Given the description of an element on the screen output the (x, y) to click on. 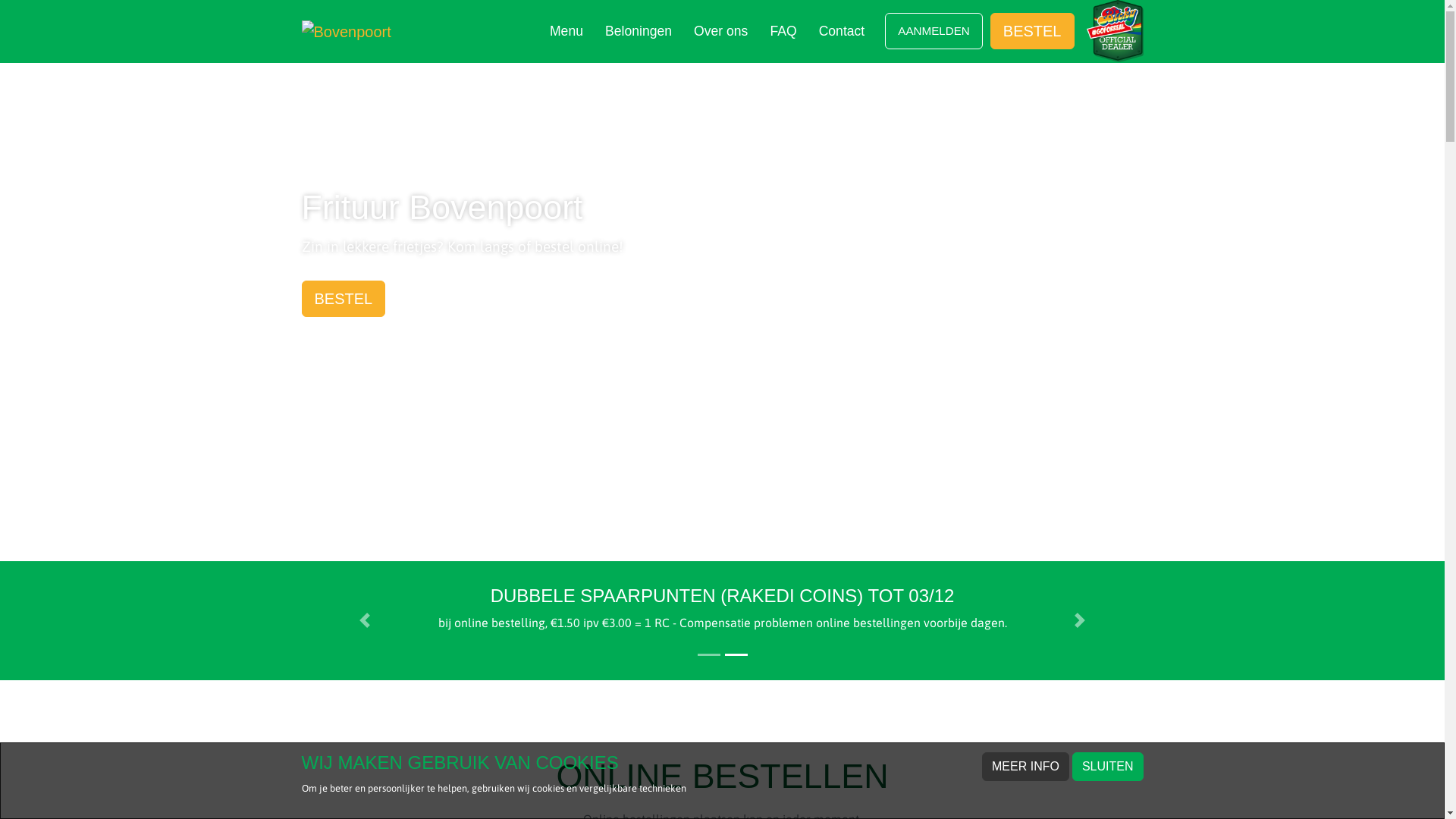
Vorige Element type: text (364, 620)
Contact Element type: text (841, 30)
Bovenpoort Element type: hover (346, 31)
Official Bicky Dealer logo Element type: hover (1113, 31)
Over ons Element type: text (720, 30)
Beloningen Element type: text (638, 30)
Menu Element type: text (566, 30)
BESTEL Element type: text (343, 298)
SLUITEN Element type: text (1107, 766)
FAQ Element type: text (782, 30)
AANMELDEN Element type: text (933, 30)
MEER INFO Element type: text (1025, 766)
Volgende Element type: text (1079, 620)
BESTEL Element type: text (1032, 30)
